Given the description of an element on the screen output the (x, y) to click on. 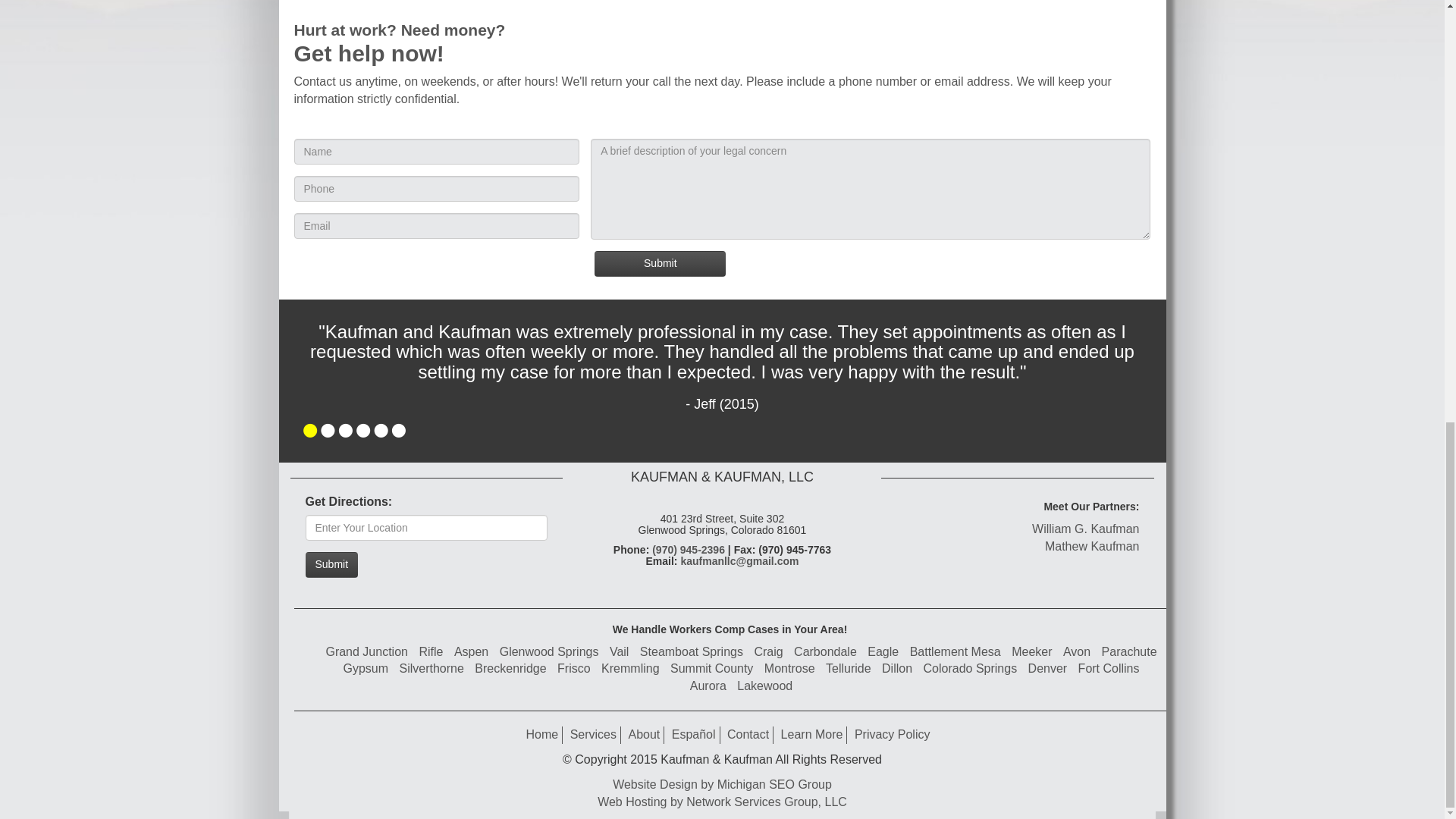
Mathew Kaufman (1092, 545)
Carbondale (825, 651)
Battlement Mesa (955, 651)
Grand Junction (365, 651)
Eagle (882, 651)
Steamboat Springs (691, 651)
Glenwood Springs (548, 651)
Rifle (430, 651)
Aspen (470, 651)
Vail (619, 651)
William G. Kaufman (1085, 528)
Submit (331, 565)
Submit (659, 263)
Craig (768, 651)
